Given the description of an element on the screen output the (x, y) to click on. 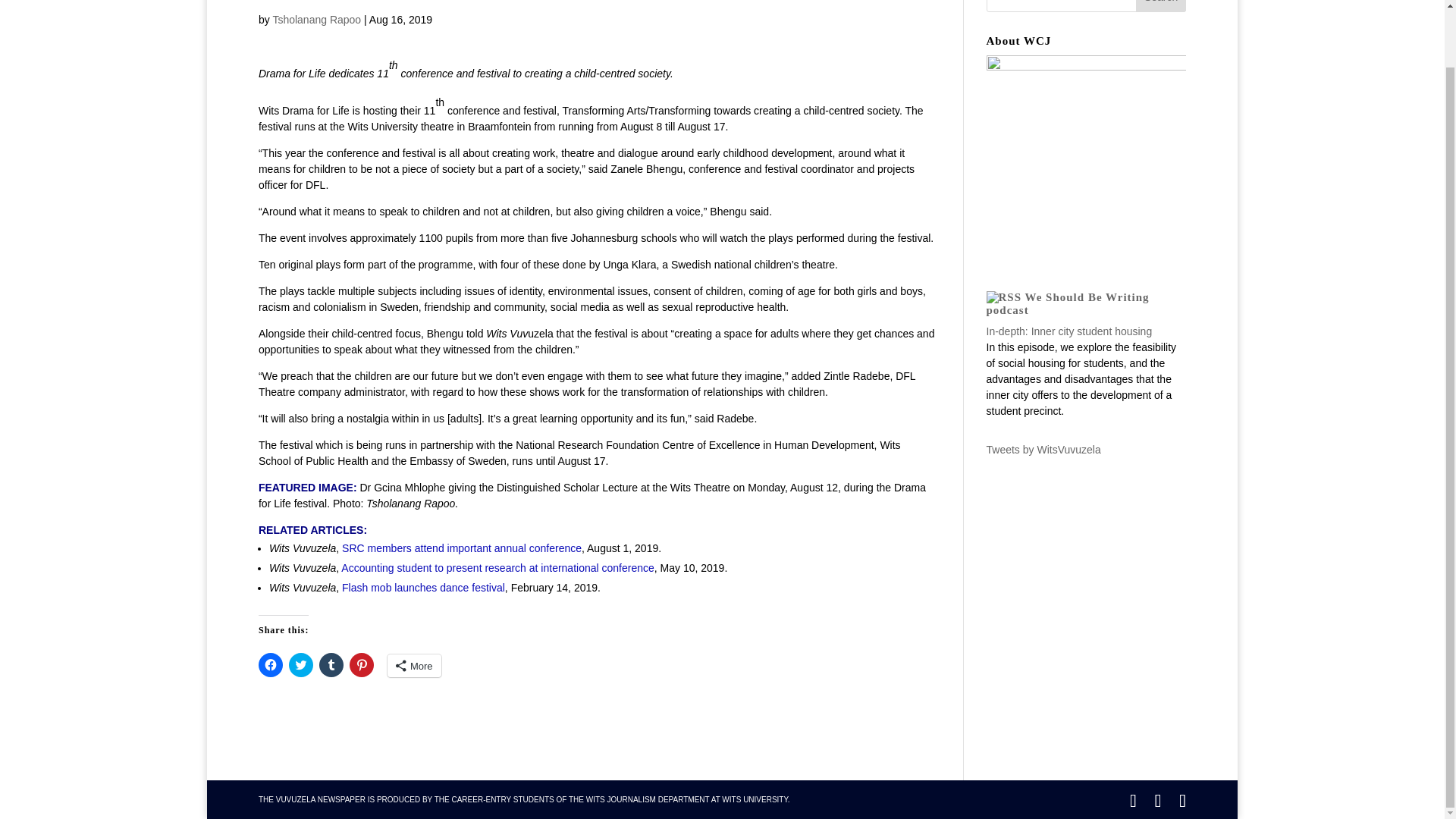
Tsholanang Rapoo (316, 19)
Click to share on Pinterest (361, 664)
Search (1160, 6)
Posts by Tsholanang Rapoo (316, 19)
Search (1160, 6)
SRC members attend important annual conference (459, 548)
Click to share on Twitter (300, 664)
Flash mob launches dance festival (423, 587)
We Should Be Writing podcast (1066, 303)
